Given the description of an element on the screen output the (x, y) to click on. 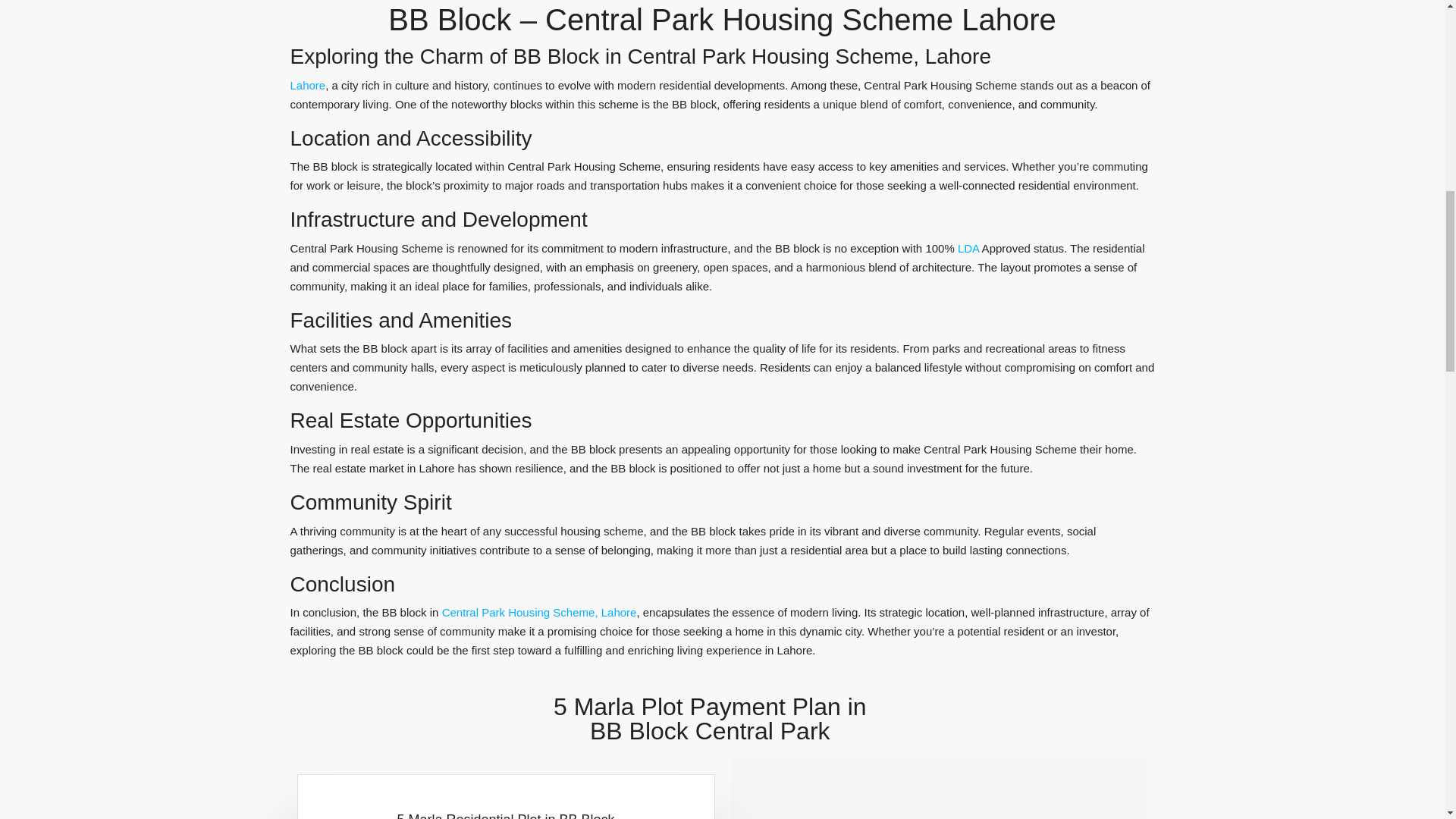
Central Park Housing Scheme, Lahore (539, 612)
LDA (968, 247)
Lahore (306, 84)
